Given the description of an element on the screen output the (x, y) to click on. 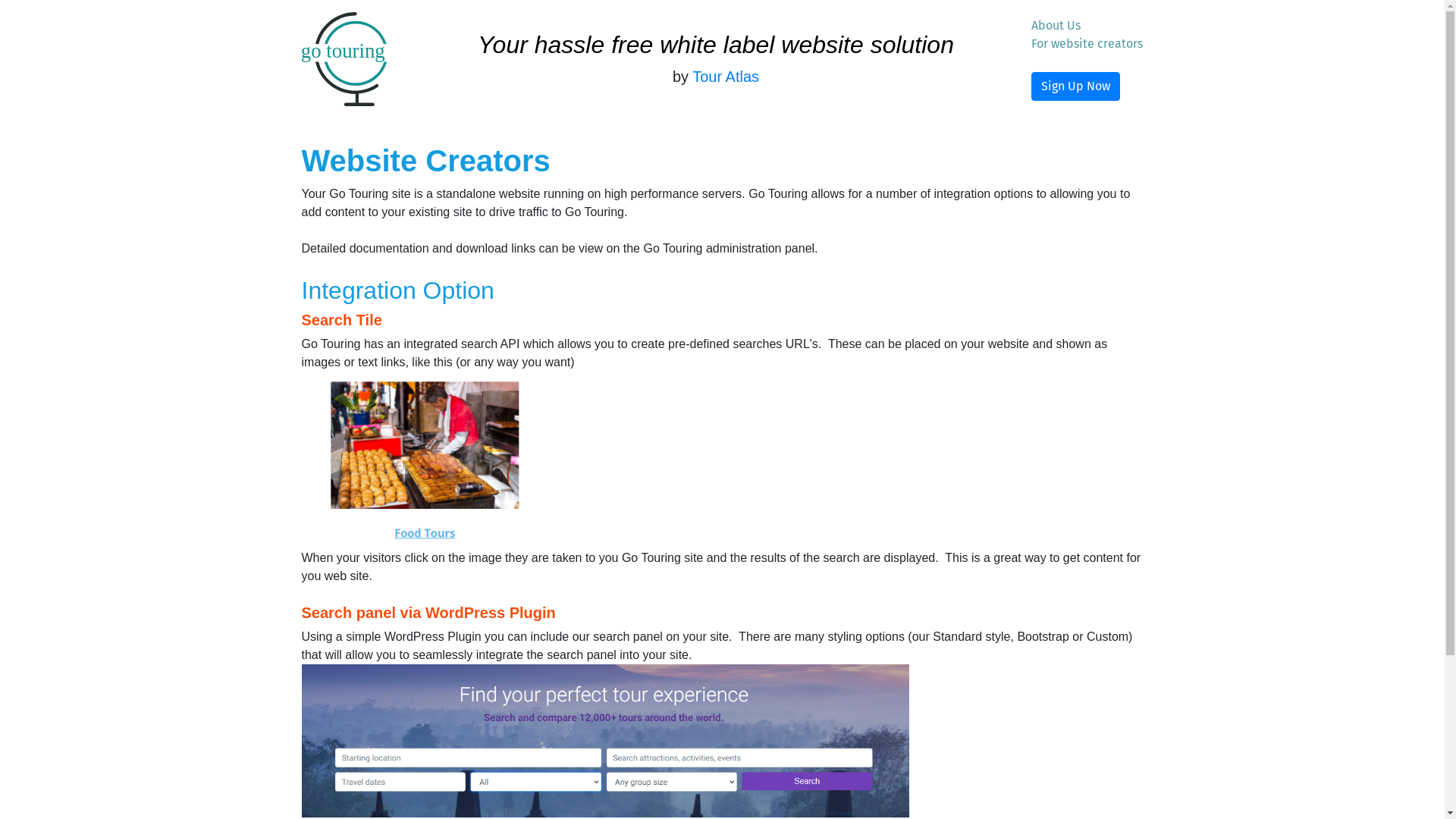
Sign Up Now Element type: text (1075, 86)
About Us Element type: text (1055, 25)
Tour Atlas Element type: text (725, 76)
For website creators Element type: text (1086, 43)
